Given the description of an element on the screen output the (x, y) to click on. 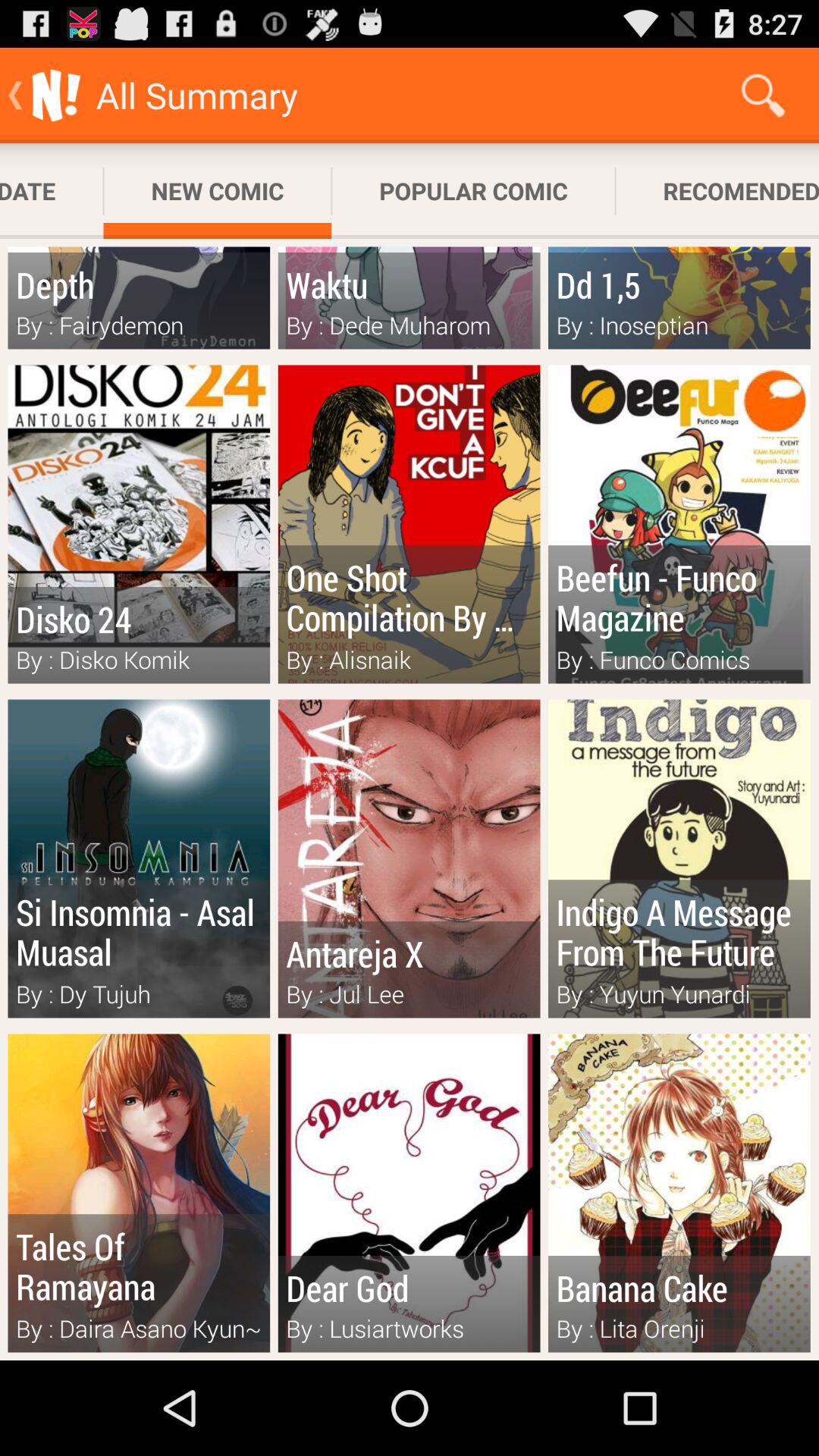
swipe to the recomended comic item (717, 190)
